Given the description of an element on the screen output the (x, y) to click on. 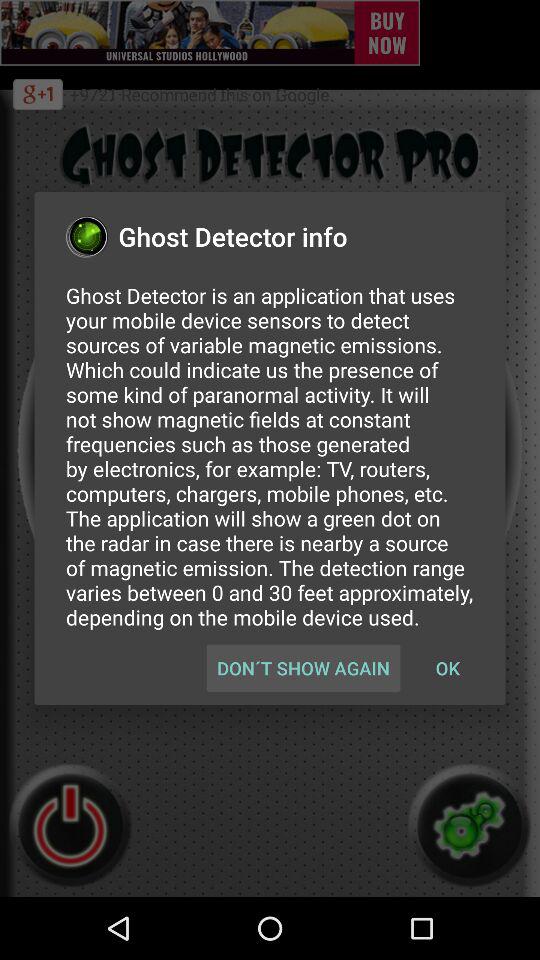
scroll to don t show button (303, 667)
